Given the description of an element on the screen output the (x, y) to click on. 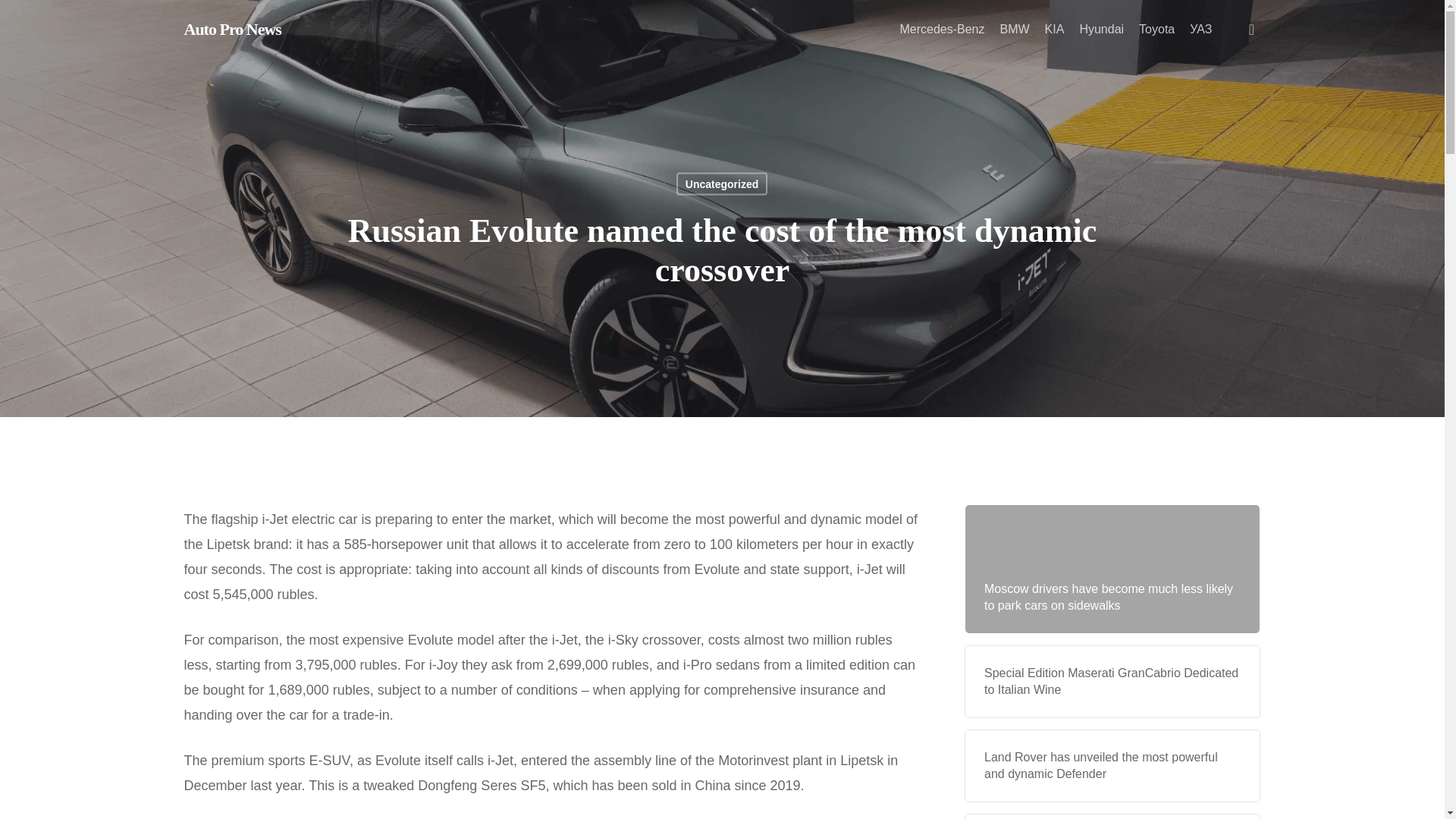
Mercedes-Benz (941, 29)
Auto Pro News (232, 29)
BMW (1013, 29)
